Given the description of an element on the screen output the (x, y) to click on. 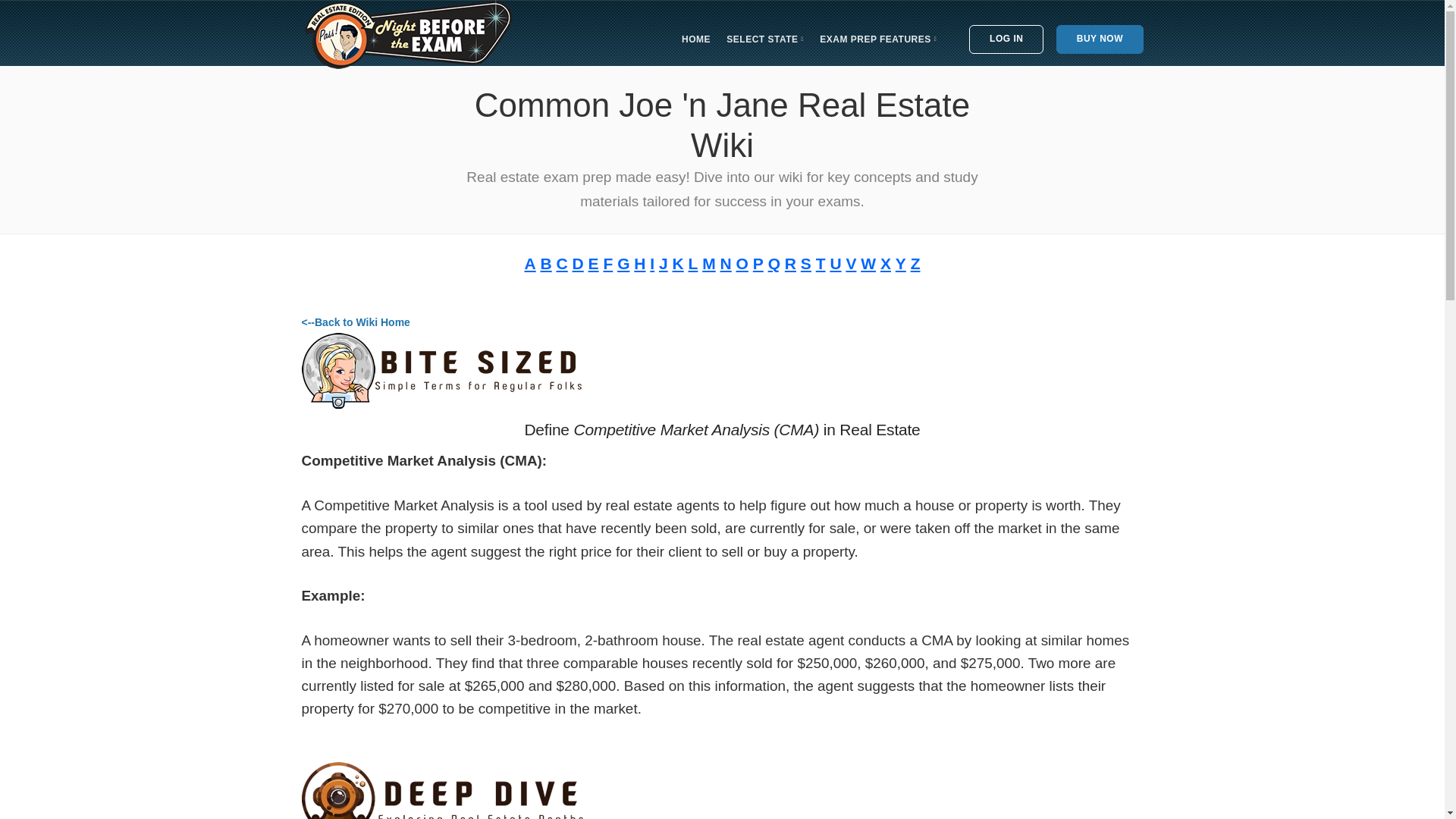
Deep Dive (442, 790)
Bite Sized Definition (442, 370)
